Given the description of an element on the screen output the (x, y) to click on. 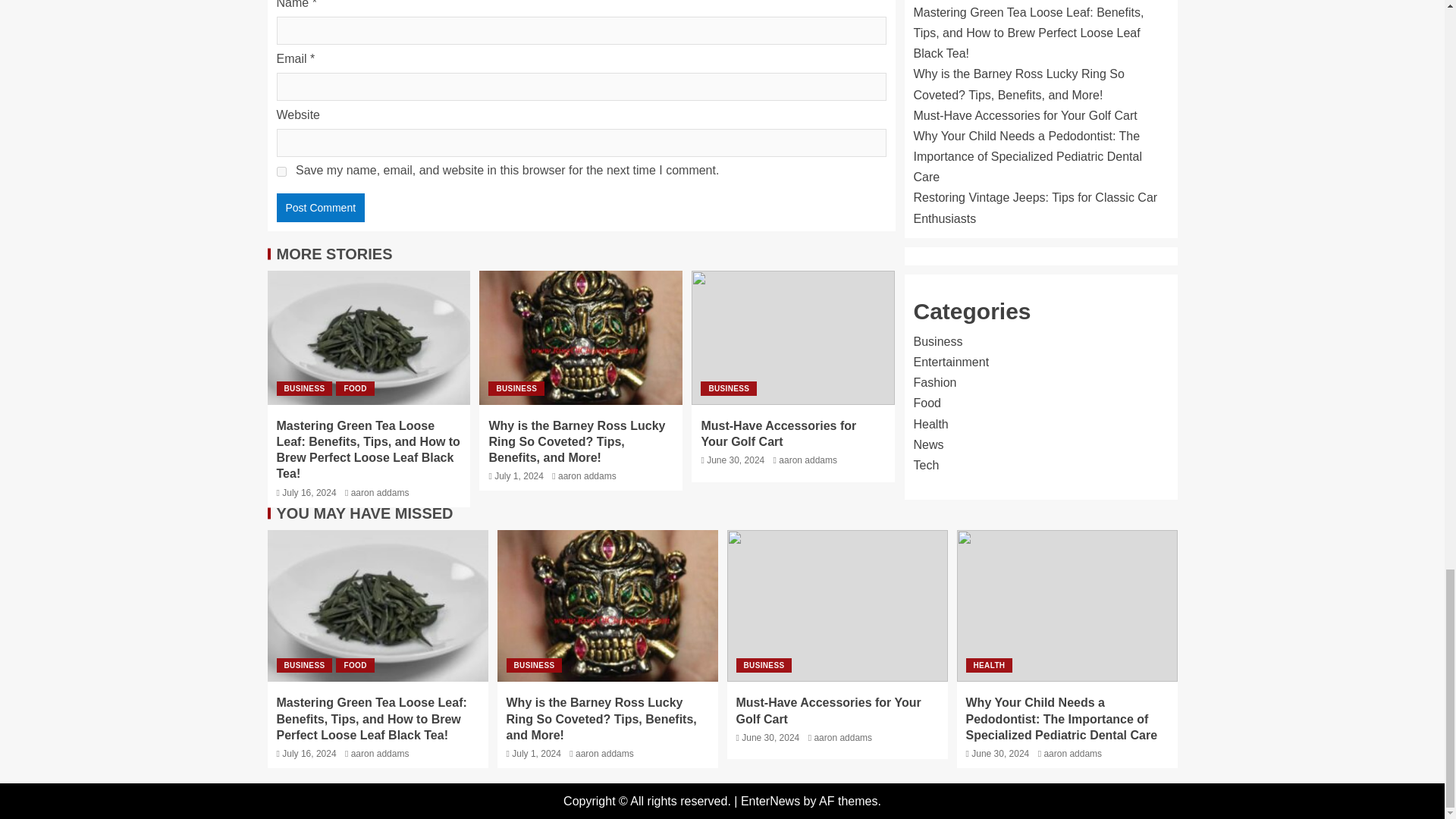
Post Comment (320, 207)
aaron addams (586, 475)
BUSINESS (728, 388)
Post Comment (320, 207)
BUSINESS (515, 388)
FOOD (355, 388)
BUSINESS (303, 388)
yes (280, 171)
aaron addams (379, 492)
